Given the description of an element on the screen output the (x, y) to click on. 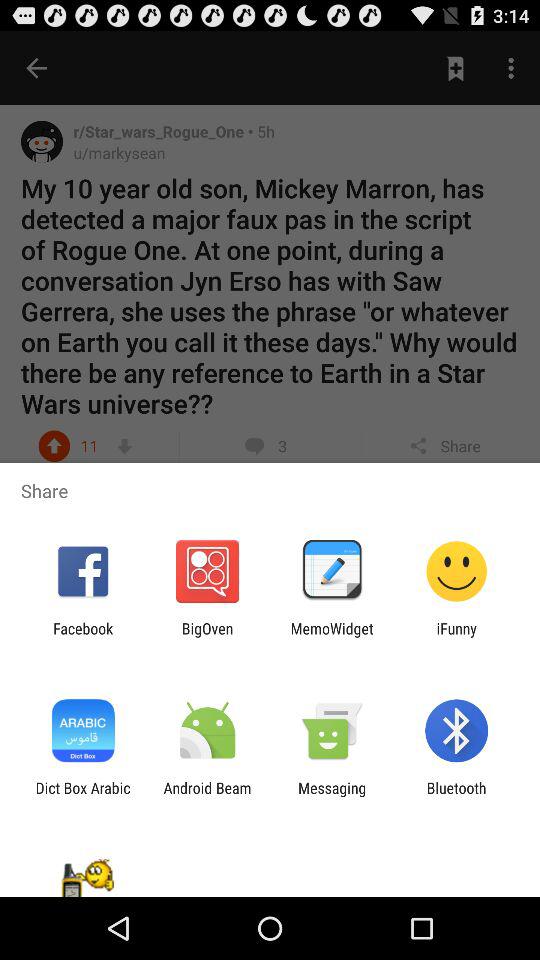
select the item to the left of memowidget app (207, 637)
